Given the description of an element on the screen output the (x, y) to click on. 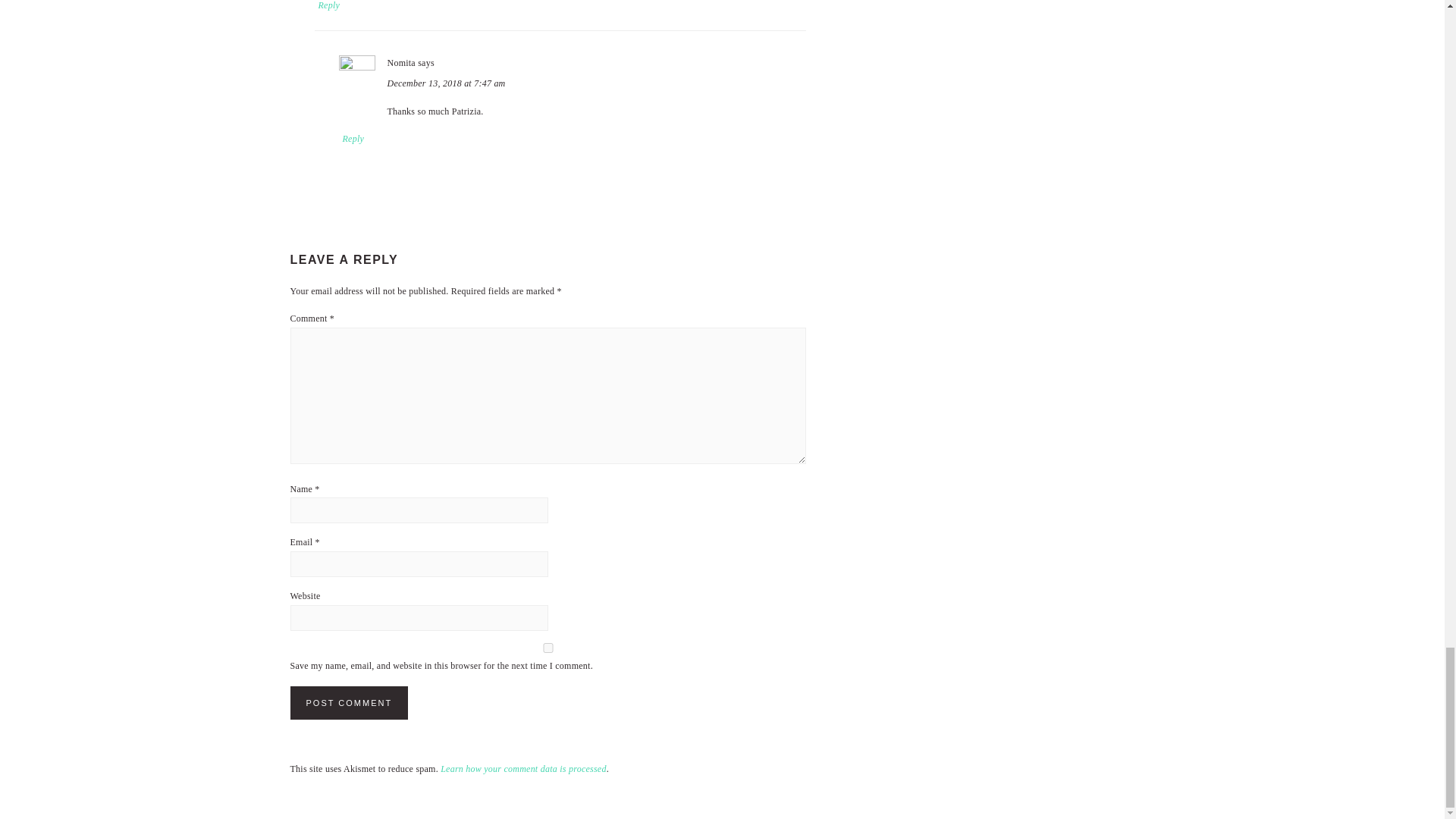
yes (547, 646)
December 13, 2018 at 7:47 am (446, 82)
Post Comment (348, 702)
Reply (352, 138)
Reply (328, 6)
